Given the description of an element on the screen output the (x, y) to click on. 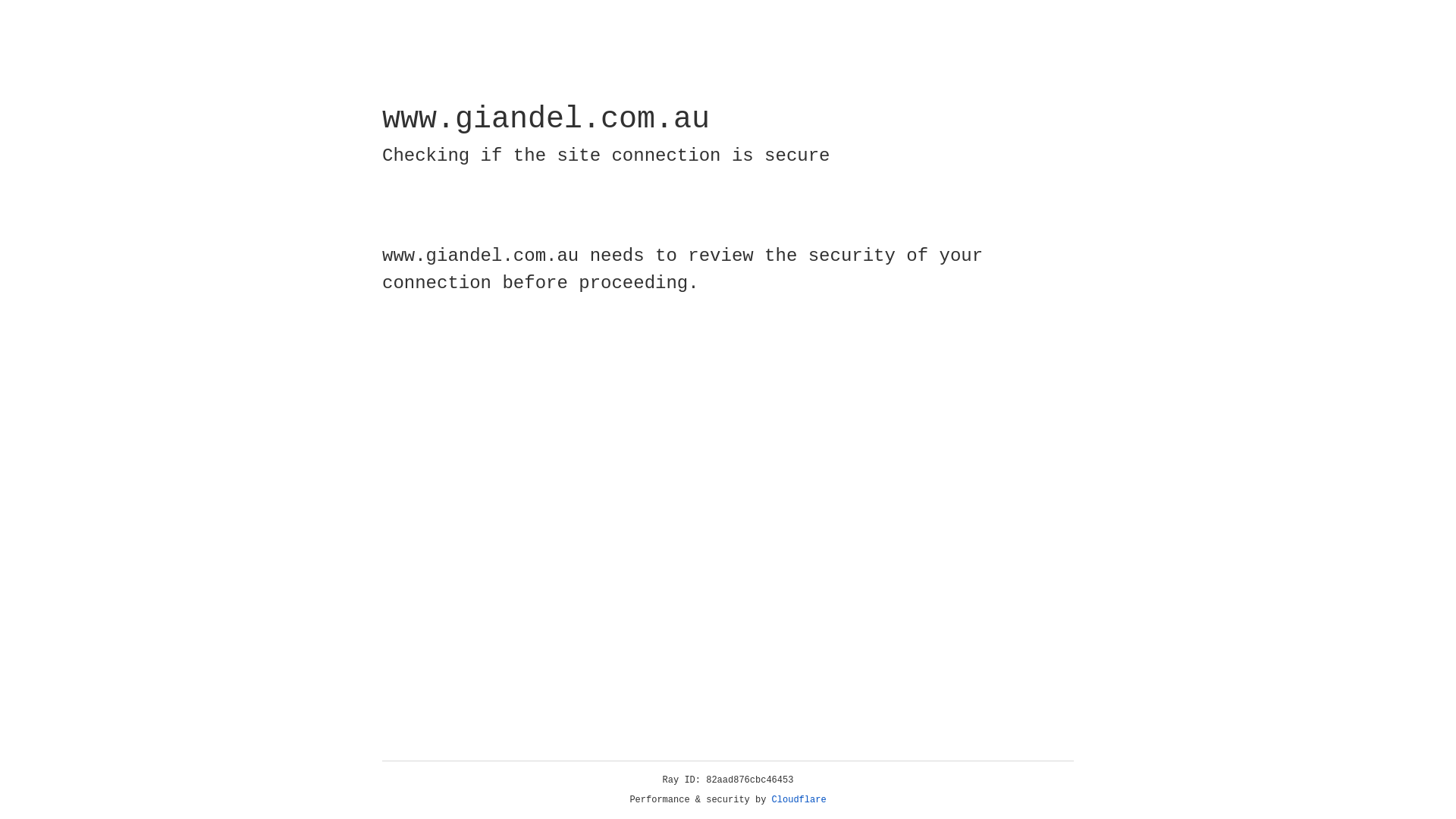
Cloudflare Element type: text (798, 799)
